Given the description of an element on the screen output the (x, y) to click on. 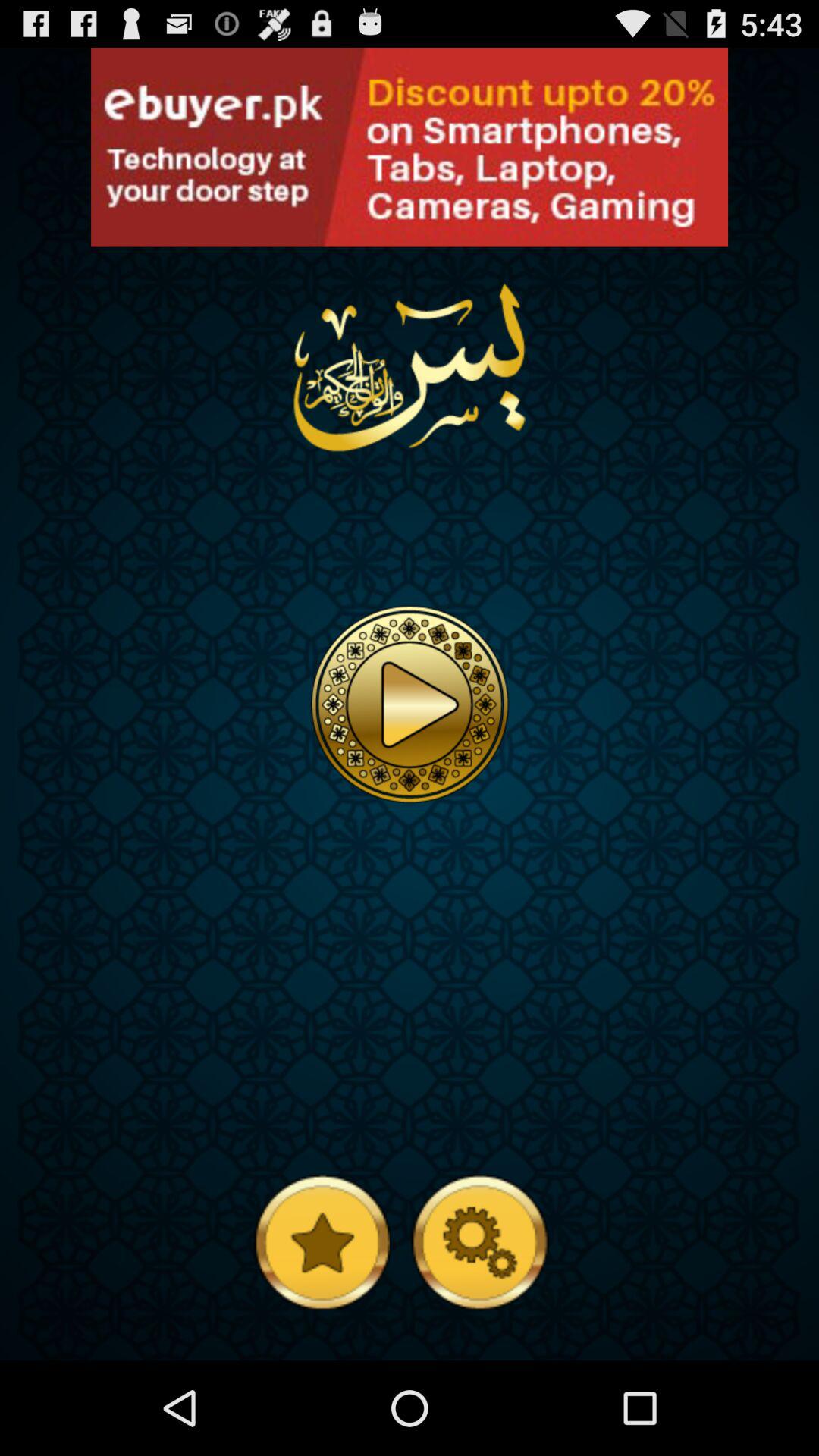
play option (409, 703)
